Given the description of an element on the screen output the (x, y) to click on. 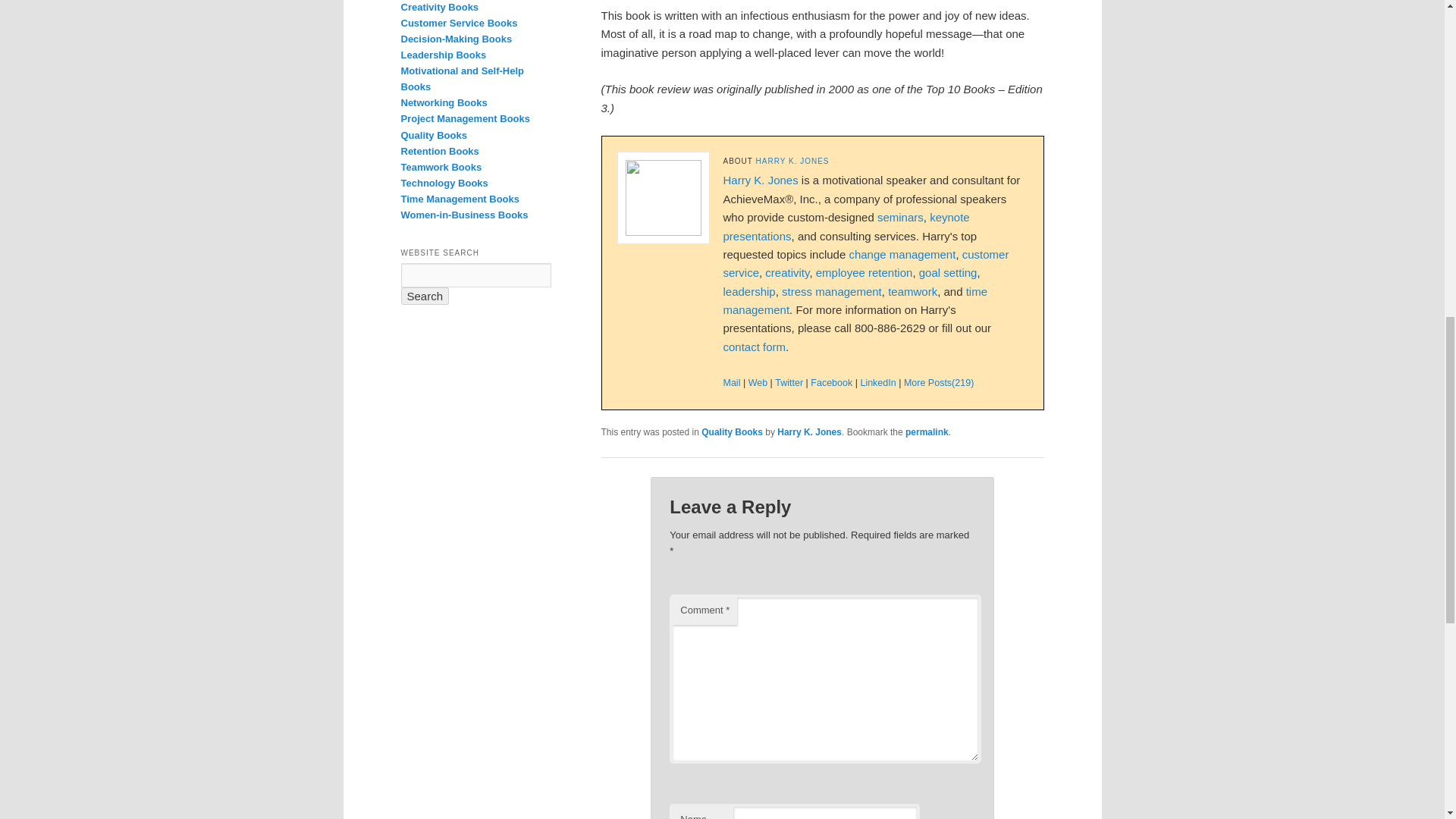
keynote presentations (846, 225)
stress management (831, 291)
Search (424, 295)
seminars (900, 216)
More Posts By Harry K. Jones (939, 382)
LinkedIn (877, 382)
Web (757, 382)
Twitter (788, 382)
Facebook (830, 382)
creativity (787, 272)
HARRY K. JONES (792, 161)
employee retention (863, 272)
teamwork (912, 291)
Harry K. Jones (792, 161)
goal setting (947, 272)
